Given the description of an element on the screen output the (x, y) to click on. 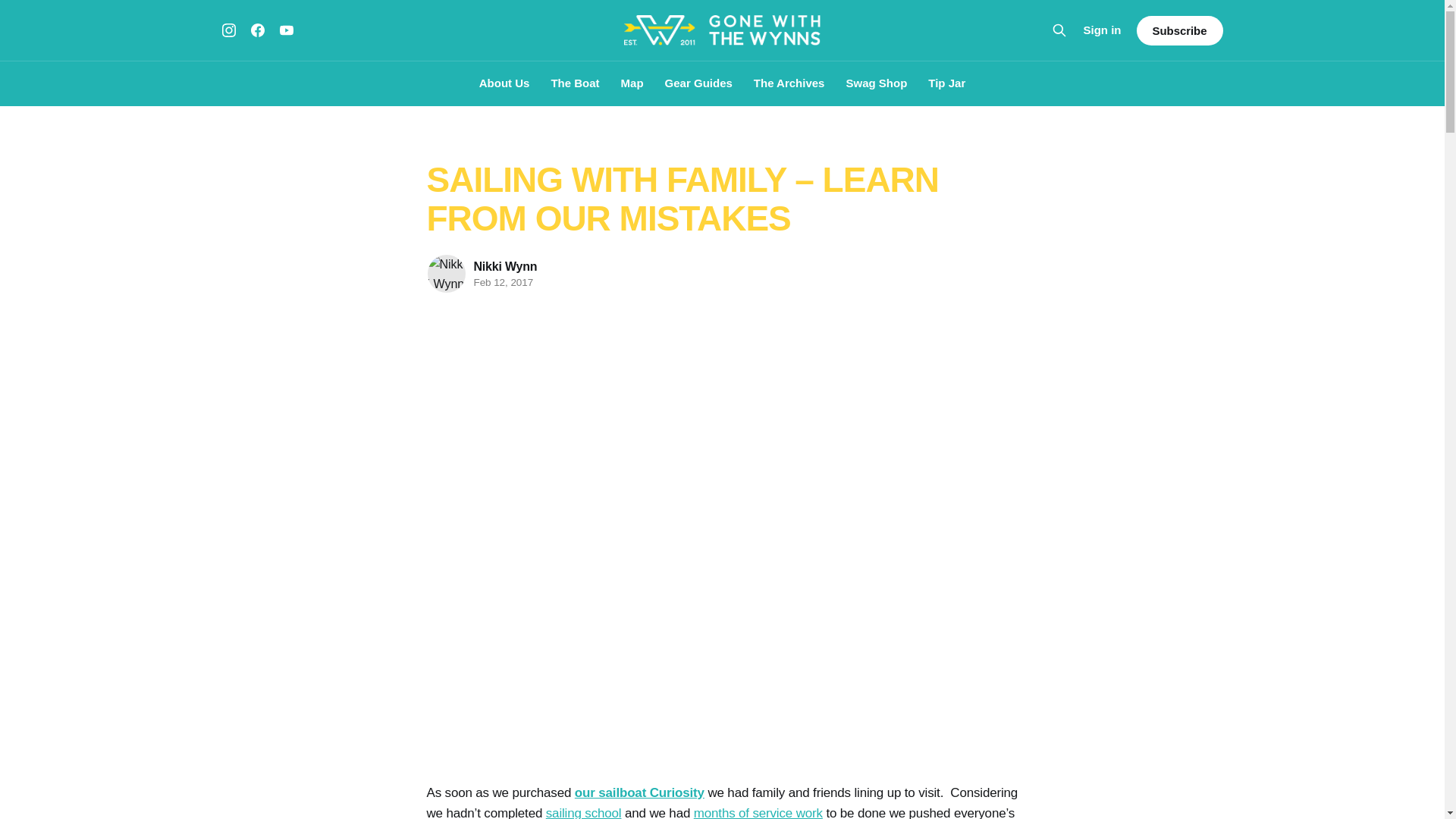
Sign in (1102, 30)
The Boat (574, 82)
months of service work (758, 812)
Subscribe (1179, 30)
The Archives (789, 82)
Tip Jar (946, 82)
Nikki Wynn (505, 265)
Swag Shop (876, 82)
our sailboat Curiosity (639, 792)
About Us (504, 82)
Gear Guides (698, 82)
Map (632, 82)
sailing school (583, 812)
